Given the description of an element on the screen output the (x, y) to click on. 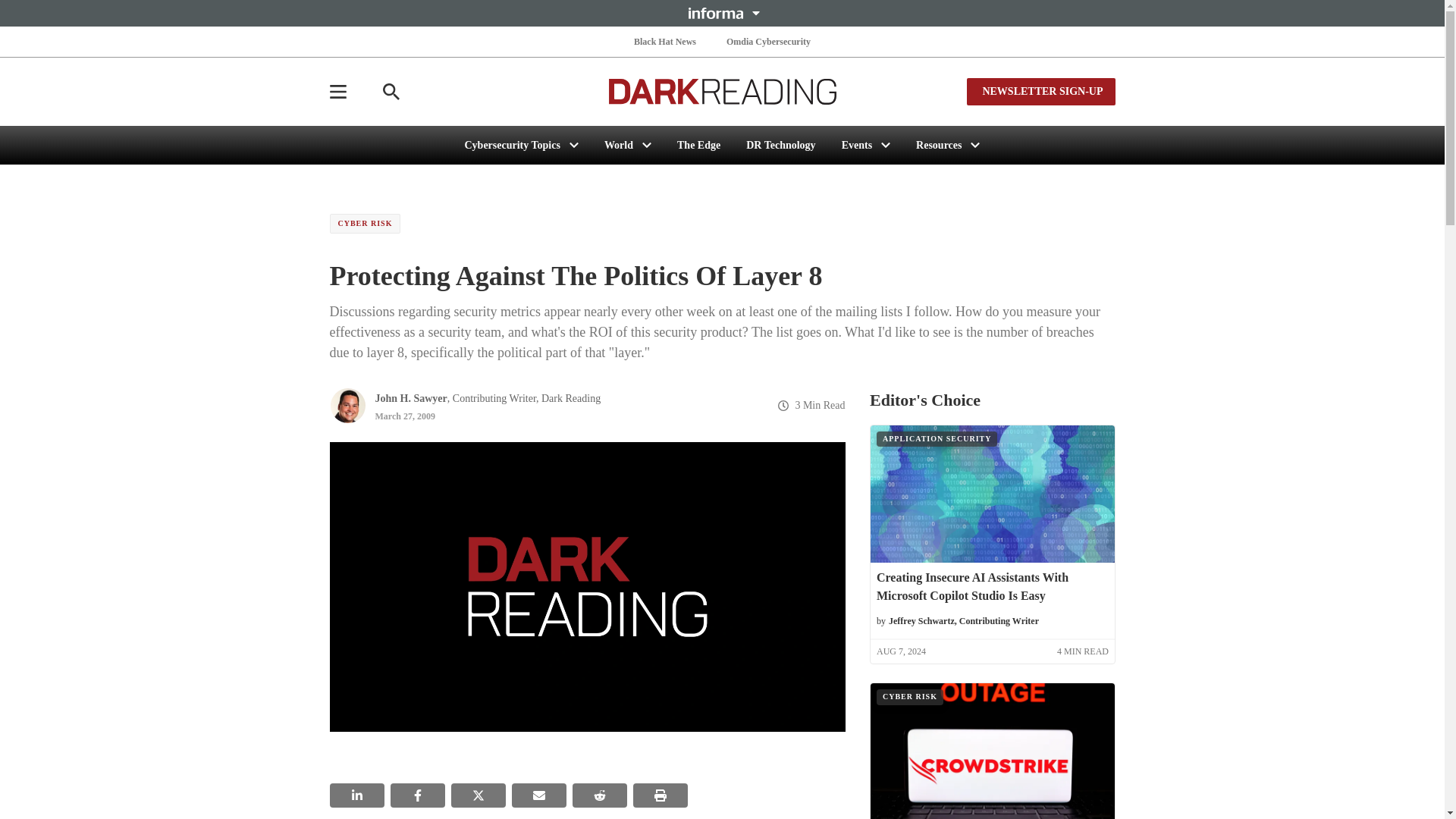
Dark Reading Logo (721, 91)
Omdia Cybersecurity (768, 41)
NEWSLETTER SIGN-UP (1040, 90)
Black Hat News (664, 41)
Picture of John H. Sawyer (347, 405)
